Given the description of an element on the screen output the (x, y) to click on. 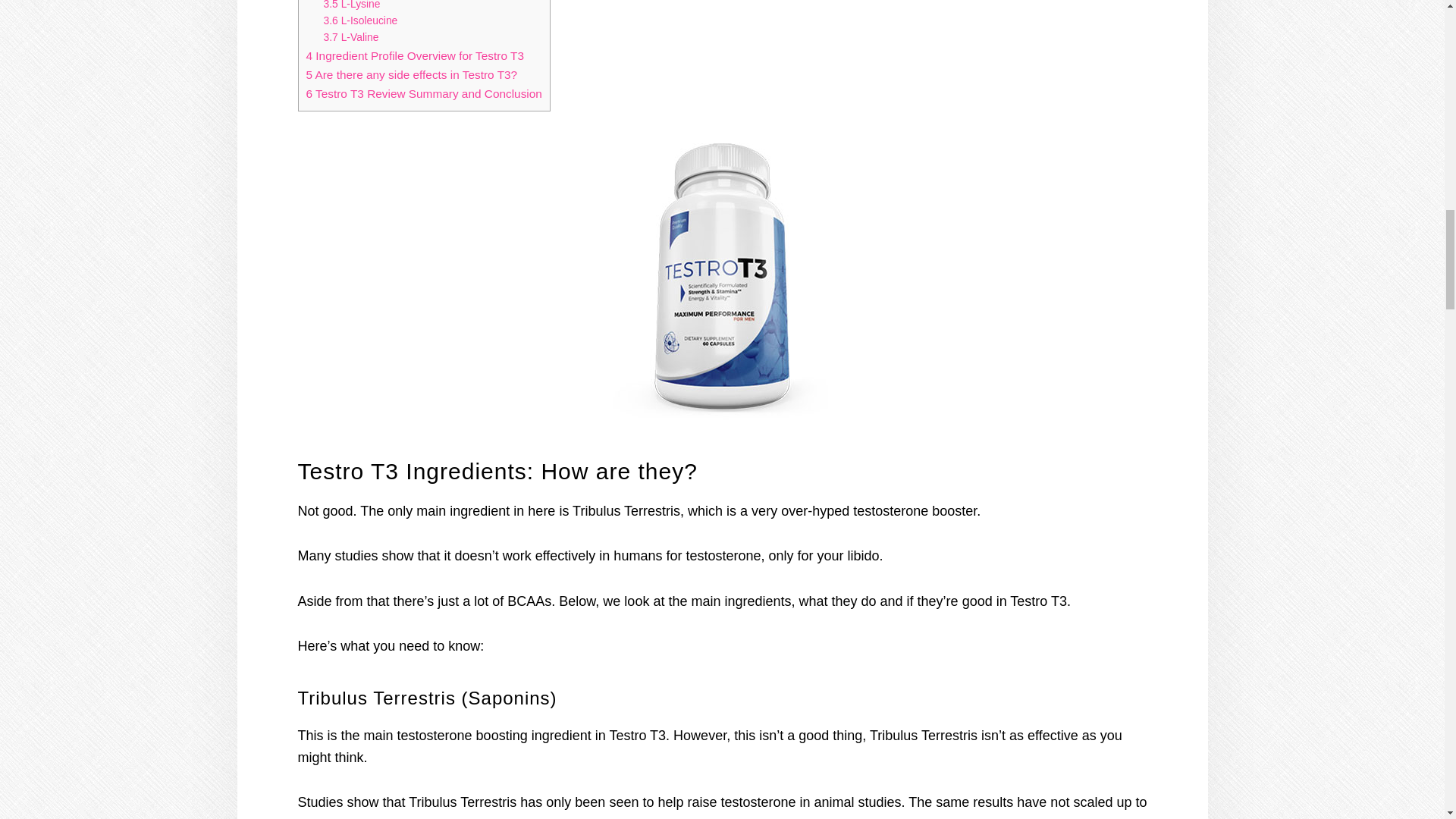
3.6 L-Isoleucine (360, 20)
6 Testro T3 Review Summary and Conclusion (423, 92)
4 Ingredient Profile Overview for Testro T3 (414, 55)
3.7 L-Valine (350, 37)
3.5 L-Lysine (351, 4)
5 Are there any side effects in Testro T3? (411, 74)
